Given the description of an element on the screen output the (x, y) to click on. 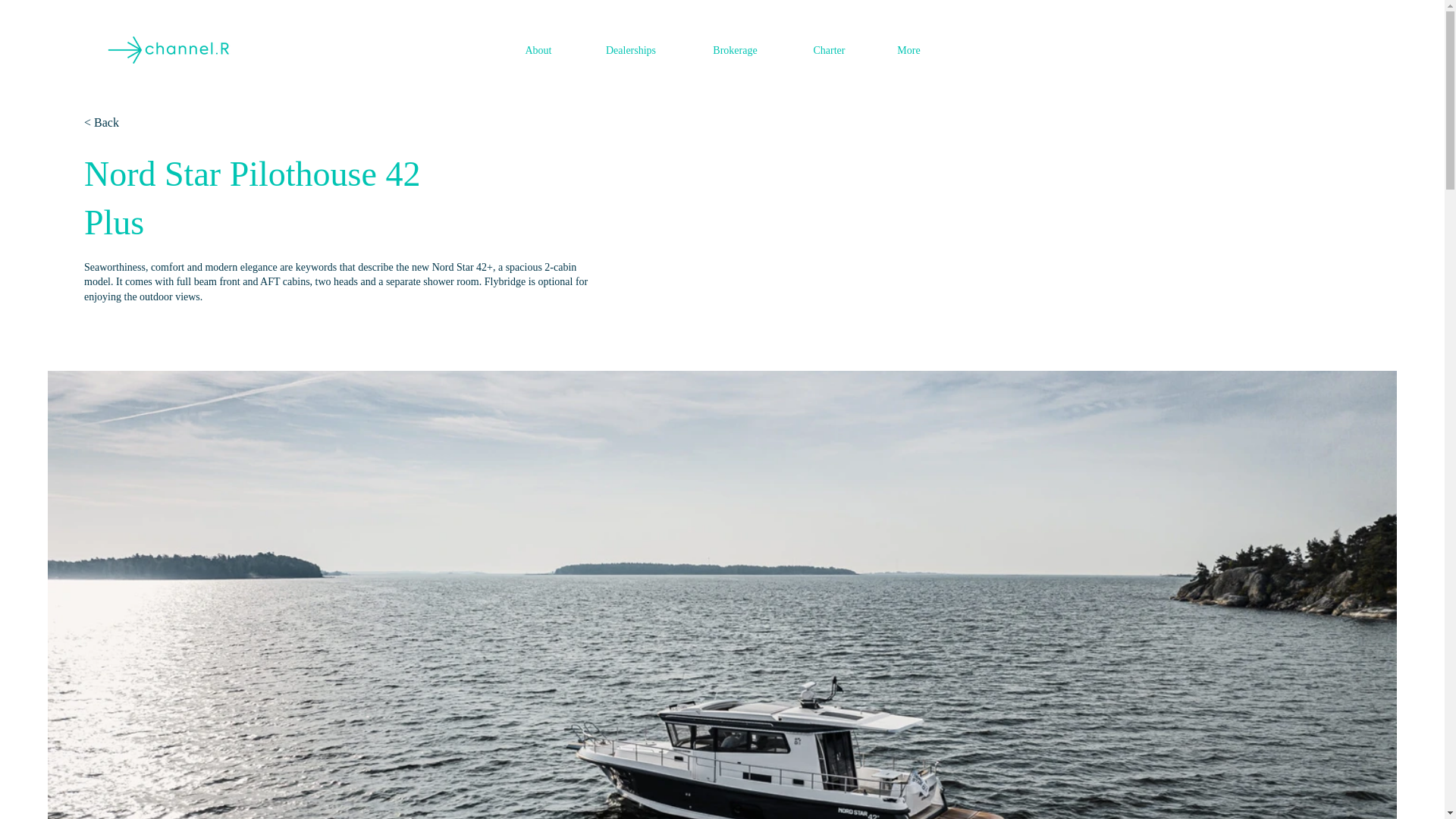
About (537, 50)
Charter (829, 50)
Dealerships (631, 50)
Brokerage (735, 50)
